Given the description of an element on the screen output the (x, y) to click on. 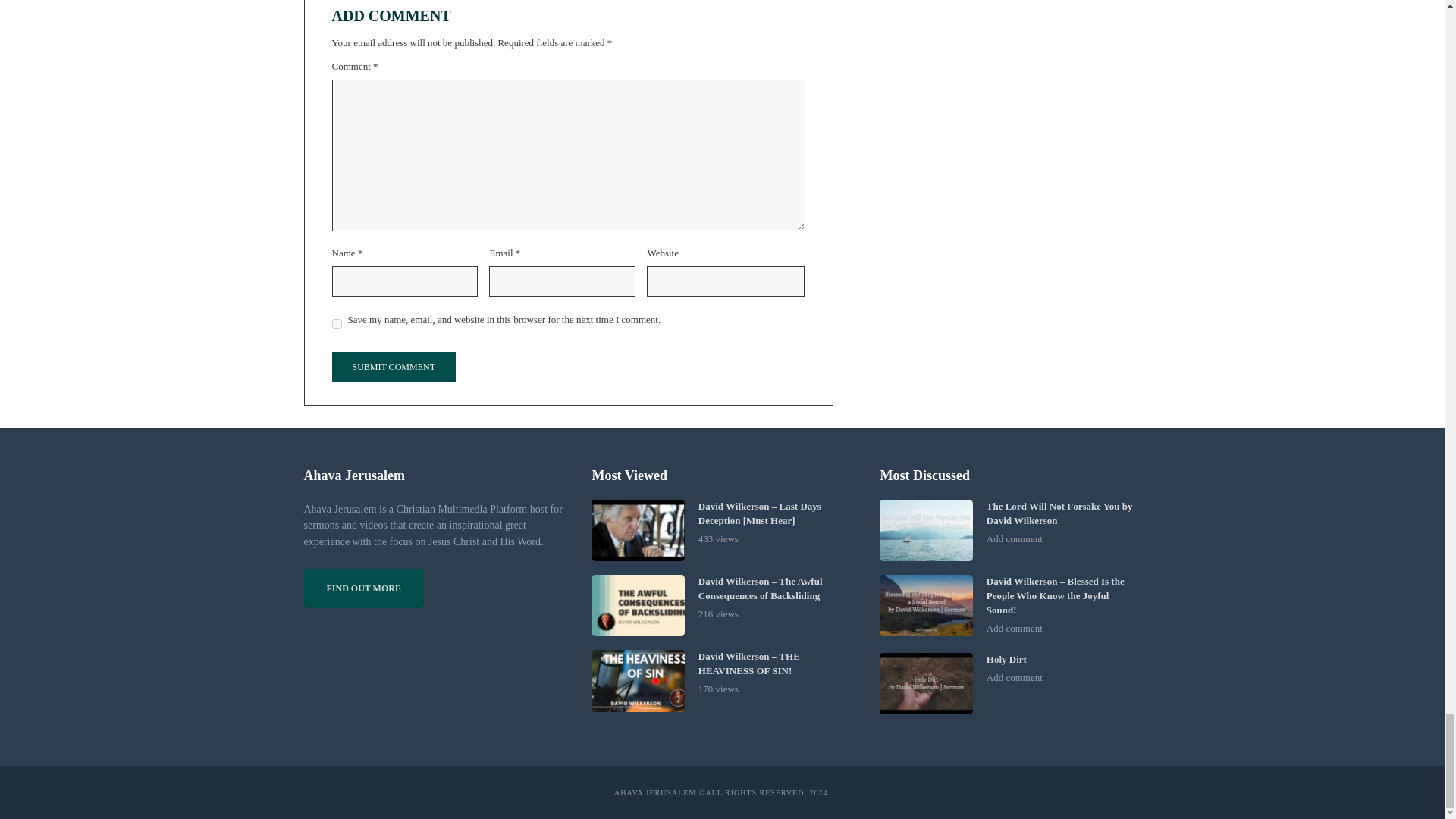
Submit Comment (393, 367)
